Given the description of an element on the screen output the (x, y) to click on. 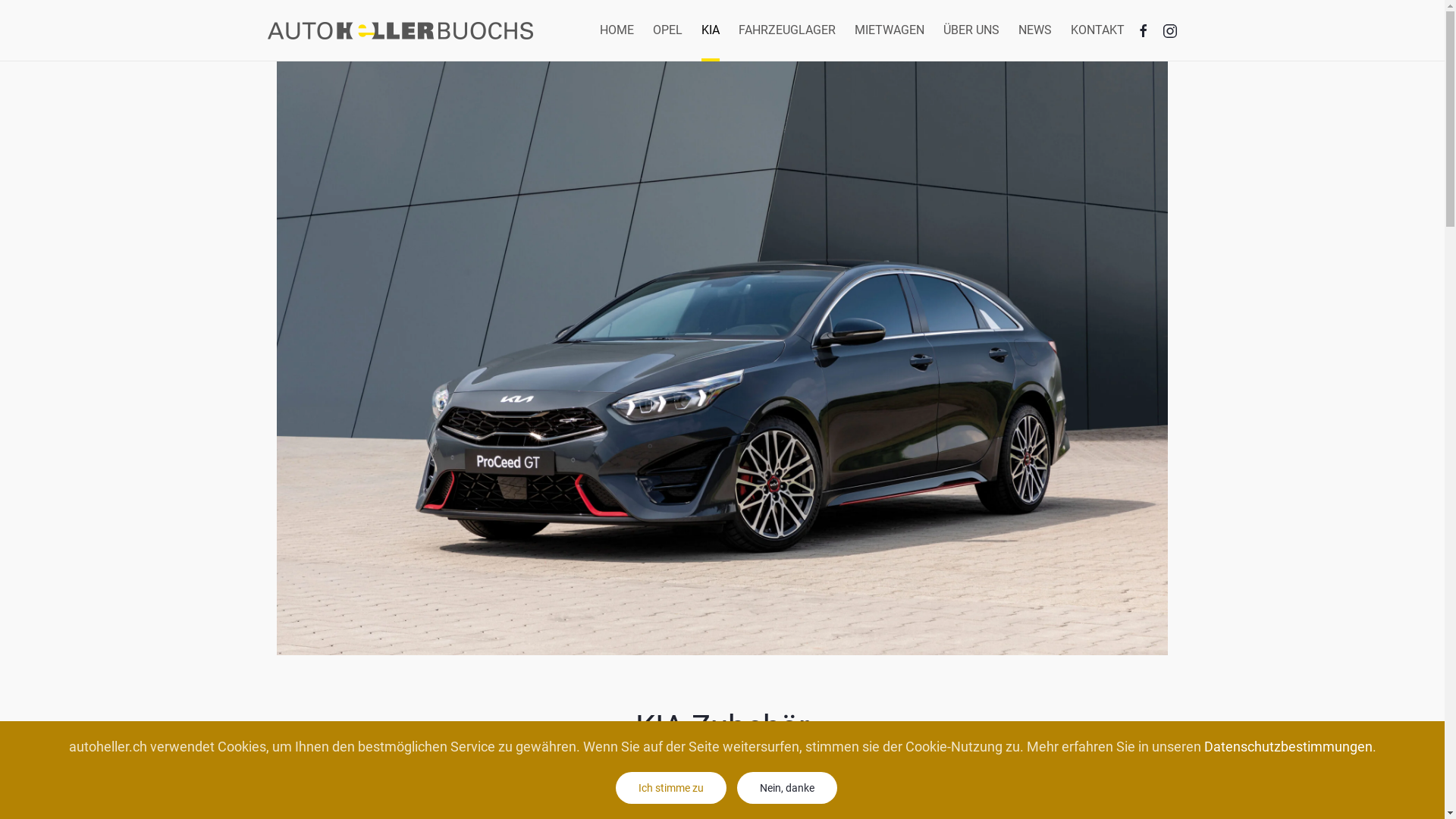
NEWS Element type: text (1034, 30)
Nein, danke Element type: text (787, 787)
Ich stimme zu Element type: text (670, 787)
OPEL Element type: text (666, 30)
FAHRZEUGLAGER Element type: text (786, 30)
KIA Element type: text (709, 30)
KONTAKT Element type: text (1097, 30)
MIETWAGEN Element type: text (888, 30)
HOME Element type: text (616, 30)
Datenschutzbestimmungen Element type: text (1288, 746)
